Given the description of an element on the screen output the (x, y) to click on. 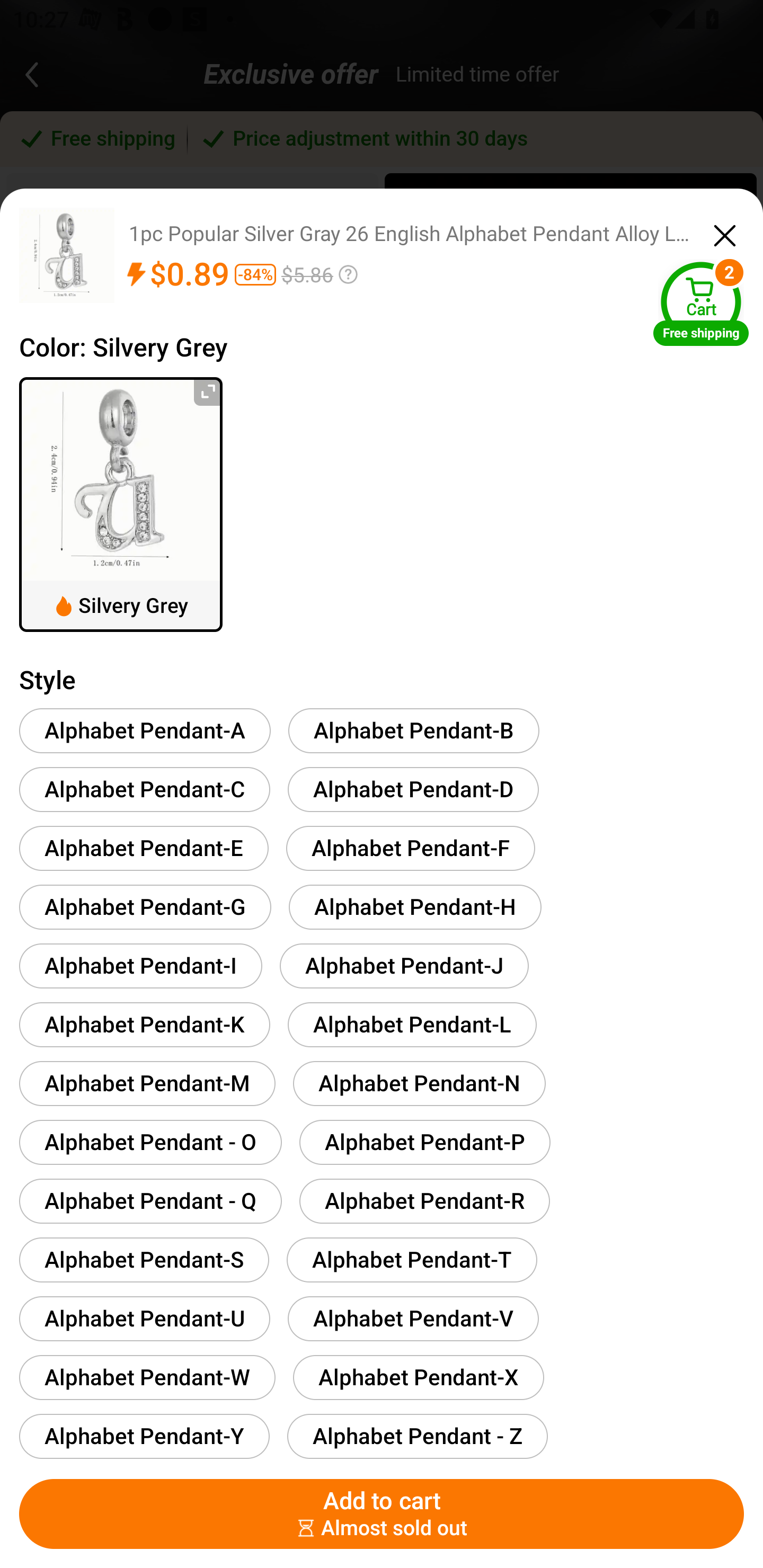
close (724, 232)
Cart Free shipping Cart (701, 303)
Silvery Grey ￼Silvery Grey (120, 504)
 Alphabet Pendant-A (144, 730)
 Alphabet Pendant-B (413, 730)
 Alphabet Pendant-C (144, 789)
 Alphabet Pendant-D (412, 789)
 Alphabet Pendant-E (143, 848)
 Alphabet Pendant-F (410, 848)
 Alphabet Pendant-G (145, 906)
 Alphabet Pendant-H (414, 906)
 Alphabet Pendant-I (140, 965)
 Alphabet Pendant-J (404, 965)
 Alphabet Pendant-K (144, 1024)
 Alphabet Pendant-L (411, 1024)
 Alphabet Pendant-M (147, 1083)
 Alphabet Pendant-N (418, 1083)
 Alphabet Pendant - O (150, 1142)
 Alphabet Pendant-P (424, 1142)
 Alphabet Pendant - Q (150, 1201)
 Alphabet Pendant-R (424, 1201)
 Alphabet Pendant-S (144, 1259)
 Alphabet Pendant-T (411, 1259)
 Alphabet Pendant-U (144, 1318)
 Alphabet Pendant-V (412, 1318)
 Alphabet Pendant-W (147, 1377)
 Alphabet Pendant-X (418, 1377)
 Alphabet Pendant-Y (144, 1436)
 Alphabet Pendant - Z (416, 1436)
Add to cart ￼￼Almost sold out (381, 1513)
